Given the description of an element on the screen output the (x, y) to click on. 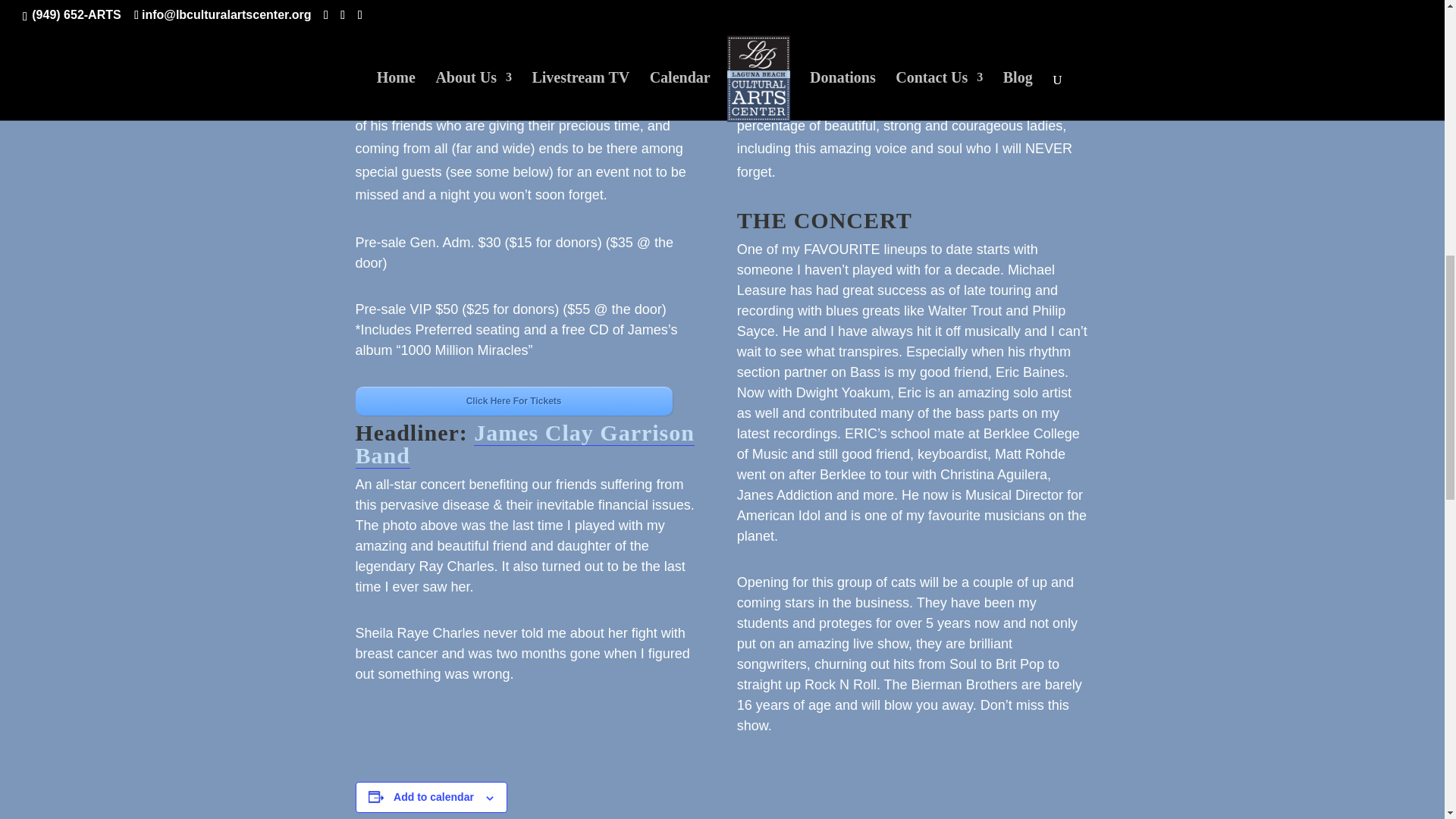
Add to calendar (433, 797)
jamesclaygarrison.rocks (489, 102)
James Clay Garrison Band (524, 444)
Click Here For Tickets (513, 400)
